Given the description of an element on the screen output the (x, y) to click on. 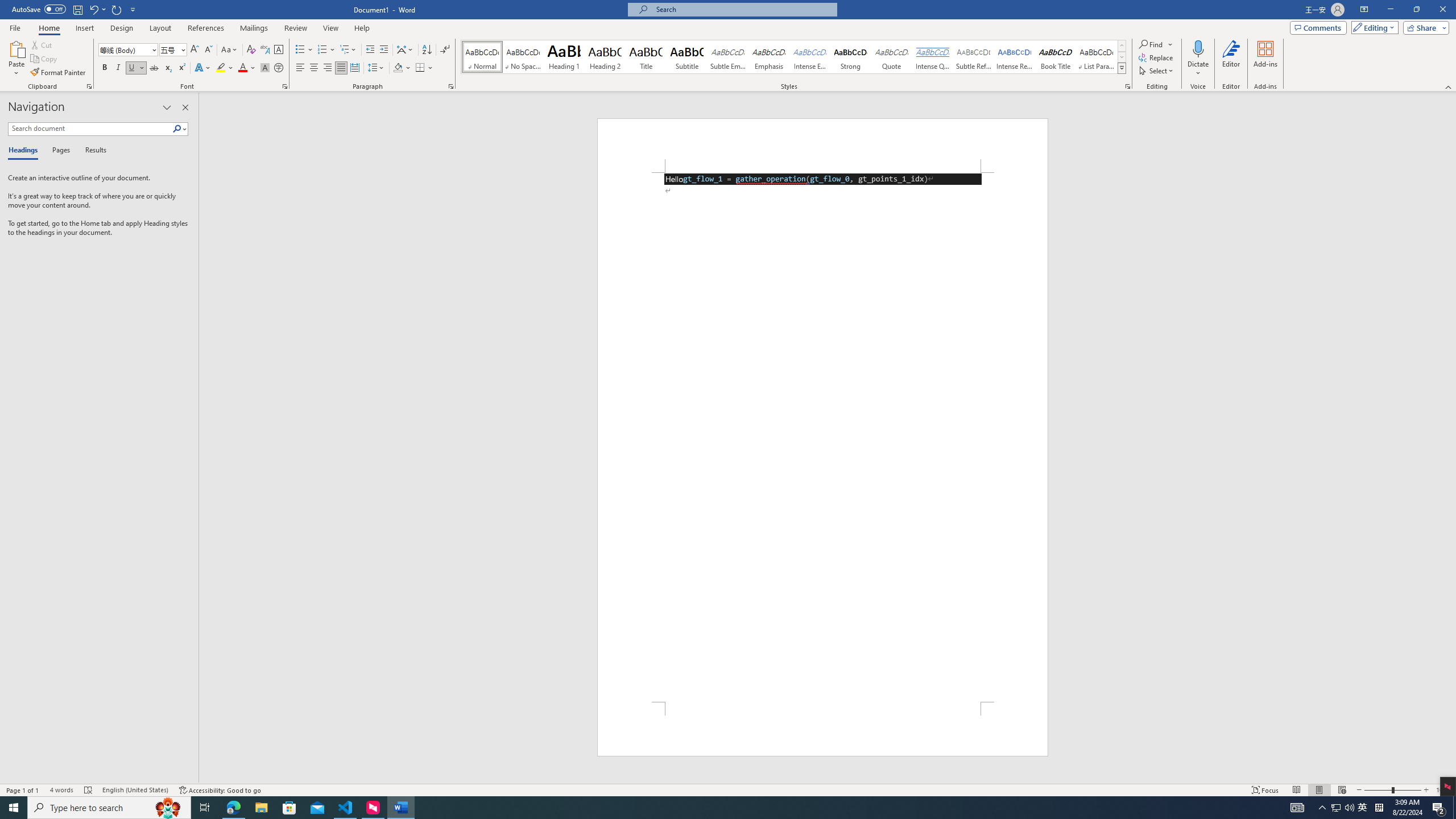
Task Pane Options (167, 107)
Text Effects and Typography (202, 67)
Font... (285, 85)
Show/Hide Editing Marks (444, 49)
Center (313, 67)
Editor (1231, 58)
Intense Quote (932, 56)
Subtle Reference (973, 56)
Zoom 100% (1443, 790)
